Given the description of an element on the screen output the (x, y) to click on. 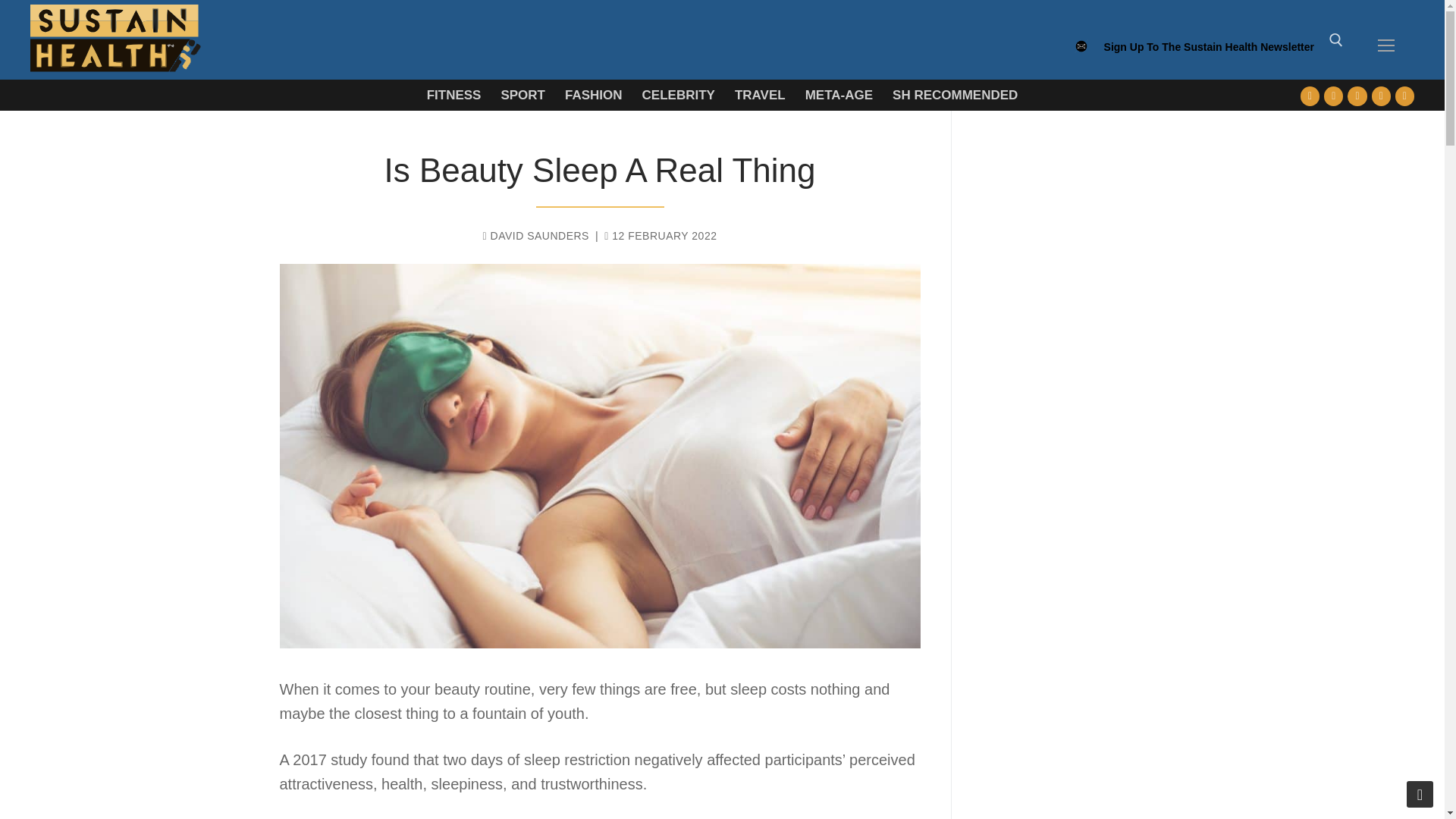
Pinterest (1404, 95)
Facebook (1310, 95)
Instagram (1380, 95)
SH RECOMMENDED (954, 94)
SPORT (522, 94)
META-AGE (838, 94)
Youtube (1357, 95)
DAVID SAUNDERS (536, 235)
Twitter (1333, 95)
FASHION (592, 94)
